Given the description of an element on the screen output the (x, y) to click on. 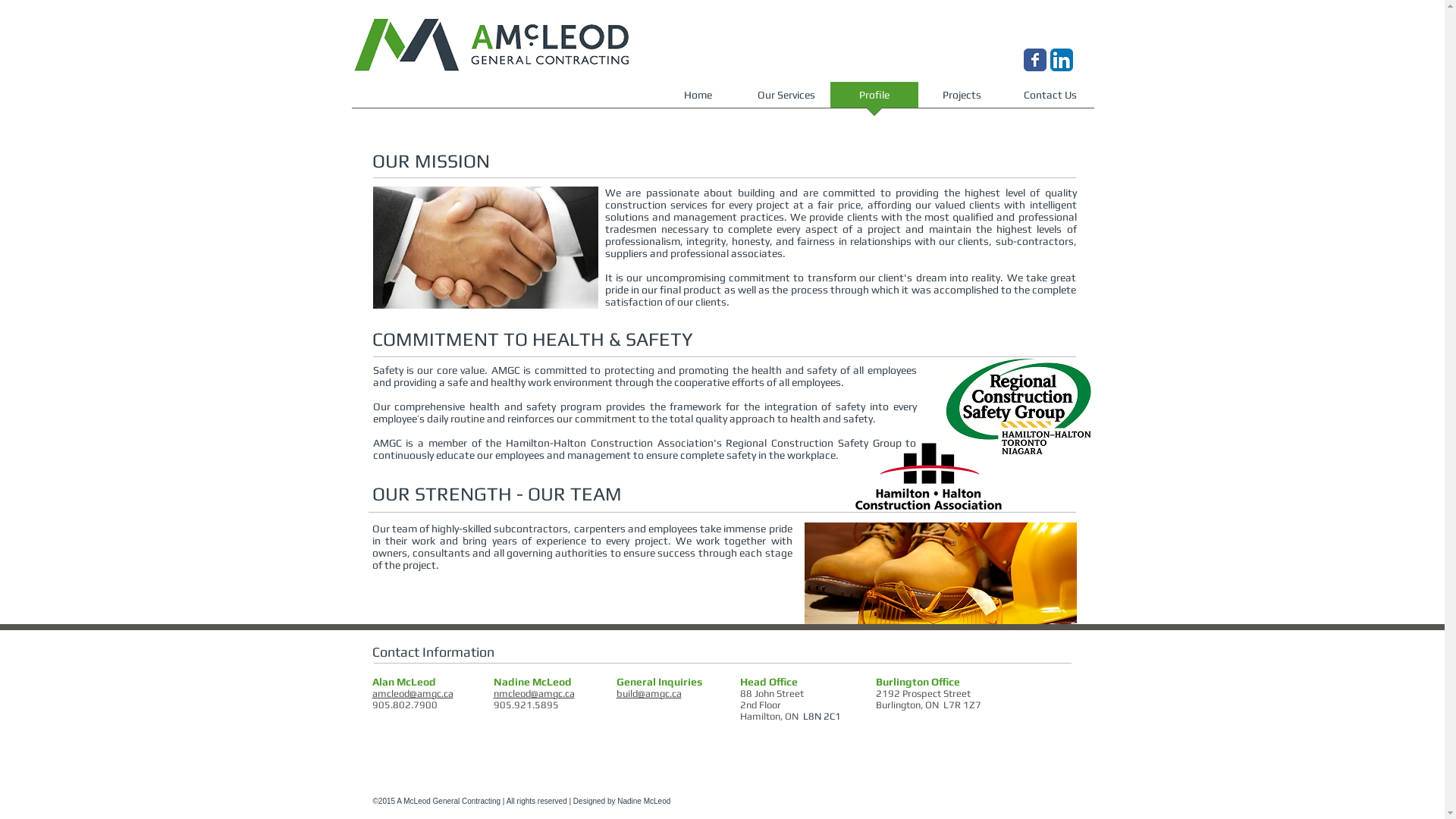
build@amgc.ca Element type: text (647, 693)
Contact Us Element type: text (1049, 99)
Home Element type: text (697, 99)
AMGC Transparent Logo.png Element type: hover (490, 44)
amcleod@amgc.ca Element type: text (411, 693)
Projects Element type: text (961, 99)
Profile Element type: text (873, 99)
Our Services Element type: text (785, 99)
nmcleod@amgc.ca Element type: text (533, 693)
